Given the description of an element on the screen output the (x, y) to click on. 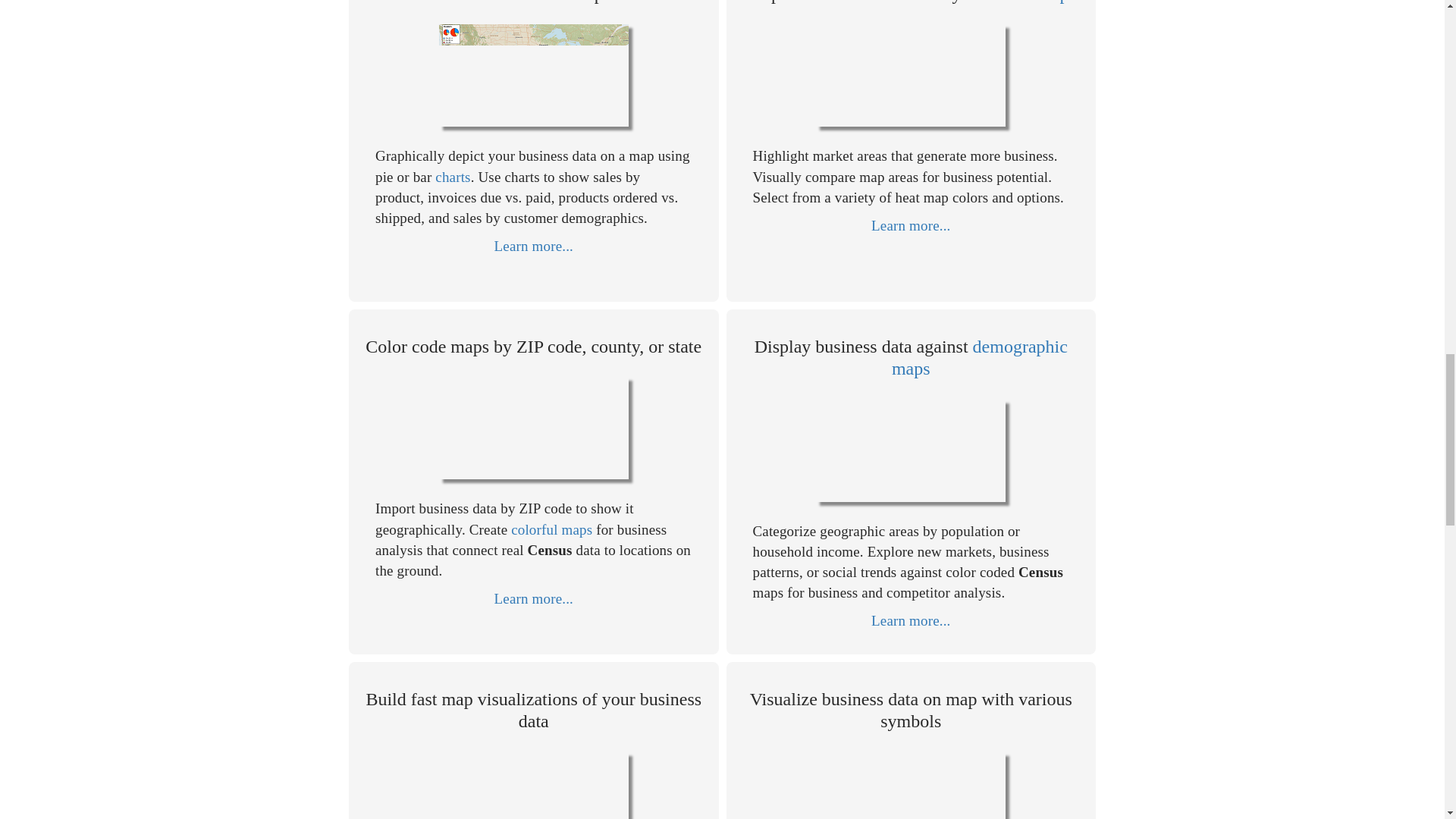
charts (452, 176)
Learn more... (534, 598)
Learn more... (910, 620)
heat maps (1039, 2)
demographic maps (979, 357)
colorful maps (551, 529)
Learn more... (534, 245)
Learn more... (910, 225)
